Given the description of an element on the screen output the (x, y) to click on. 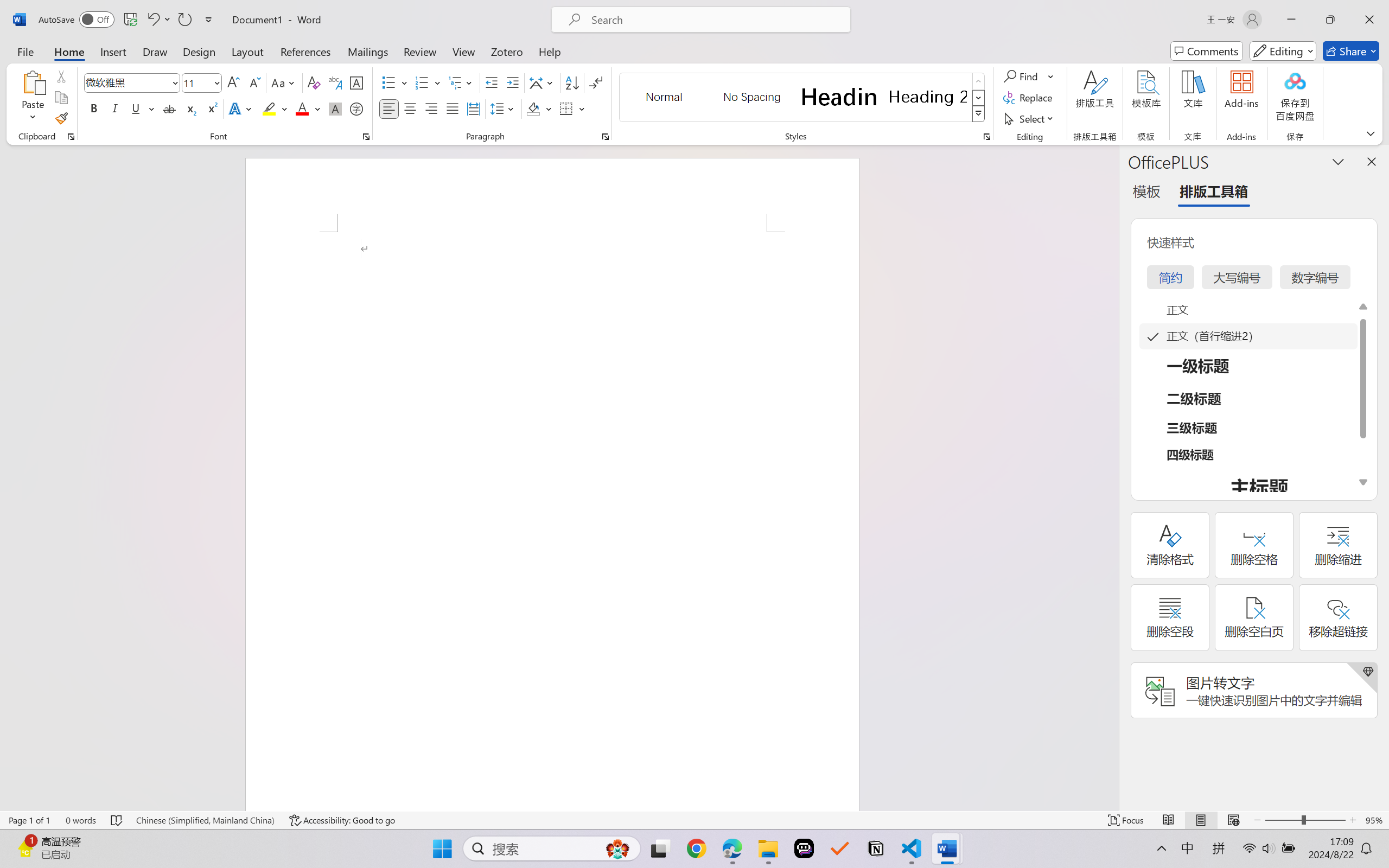
Page 1 content (552, 521)
Repeat Style (184, 19)
